Given the description of an element on the screen output the (x, y) to click on. 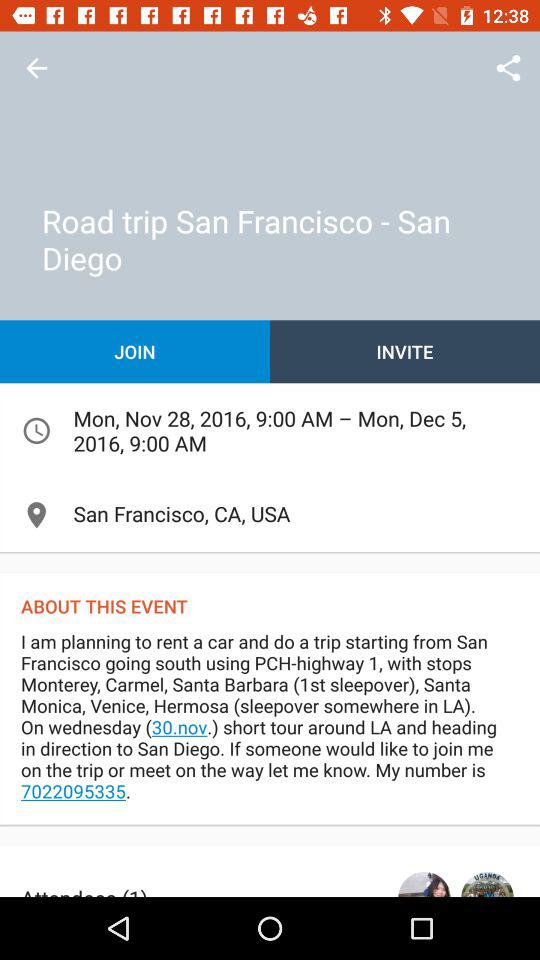
turn off icon to the right of the join (405, 351)
